Given the description of an element on the screen output the (x, y) to click on. 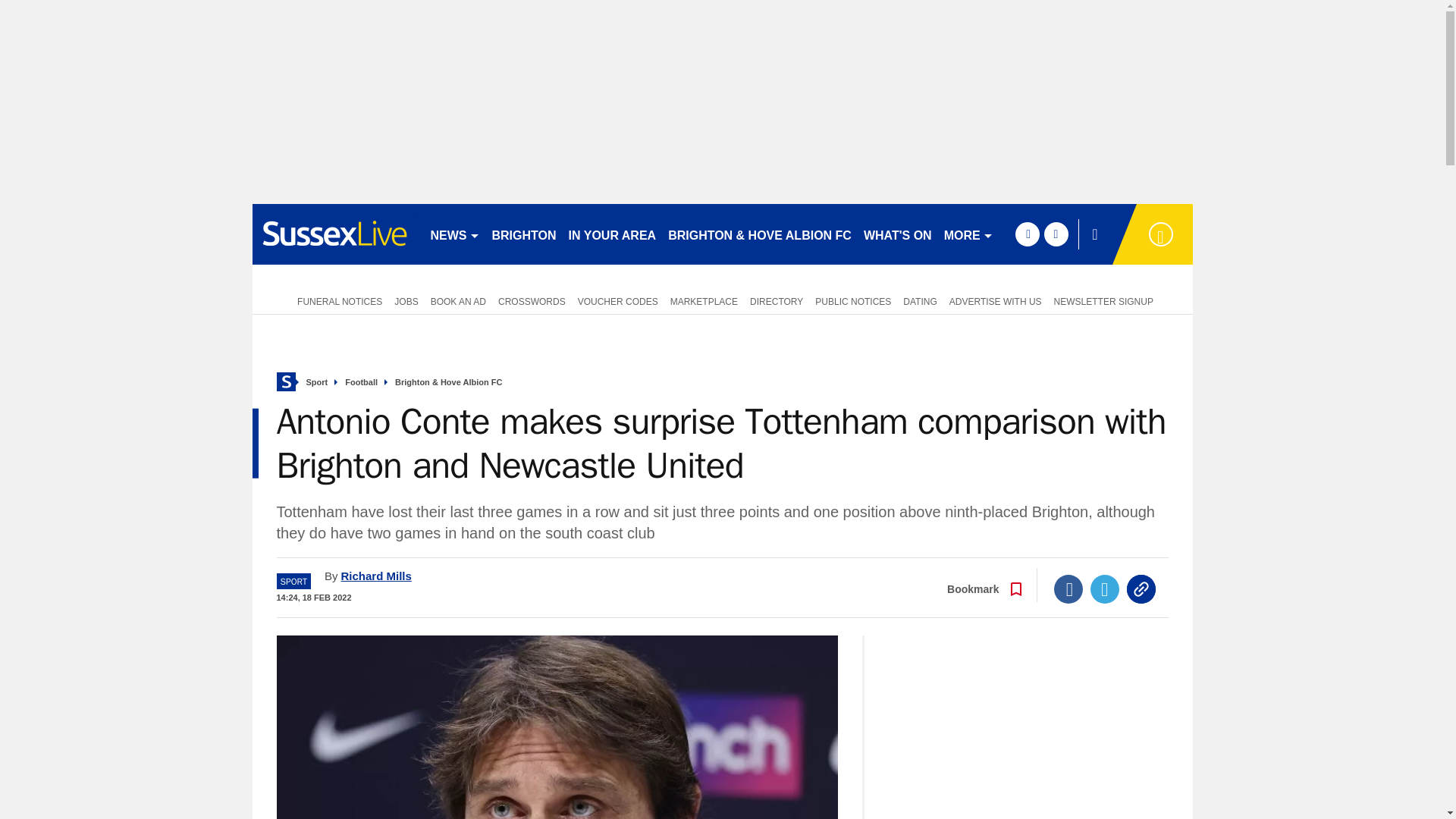
CROSSWORDS (532, 300)
twitter (1055, 233)
IN YOUR AREA (612, 233)
NEWS (455, 233)
JOBS (405, 300)
PUBLIC NOTICES (852, 300)
BOOK AN AD (458, 300)
Twitter (1104, 588)
WHAT'S ON (897, 233)
MARKETPLACE (703, 300)
